Given the description of an element on the screen output the (x, y) to click on. 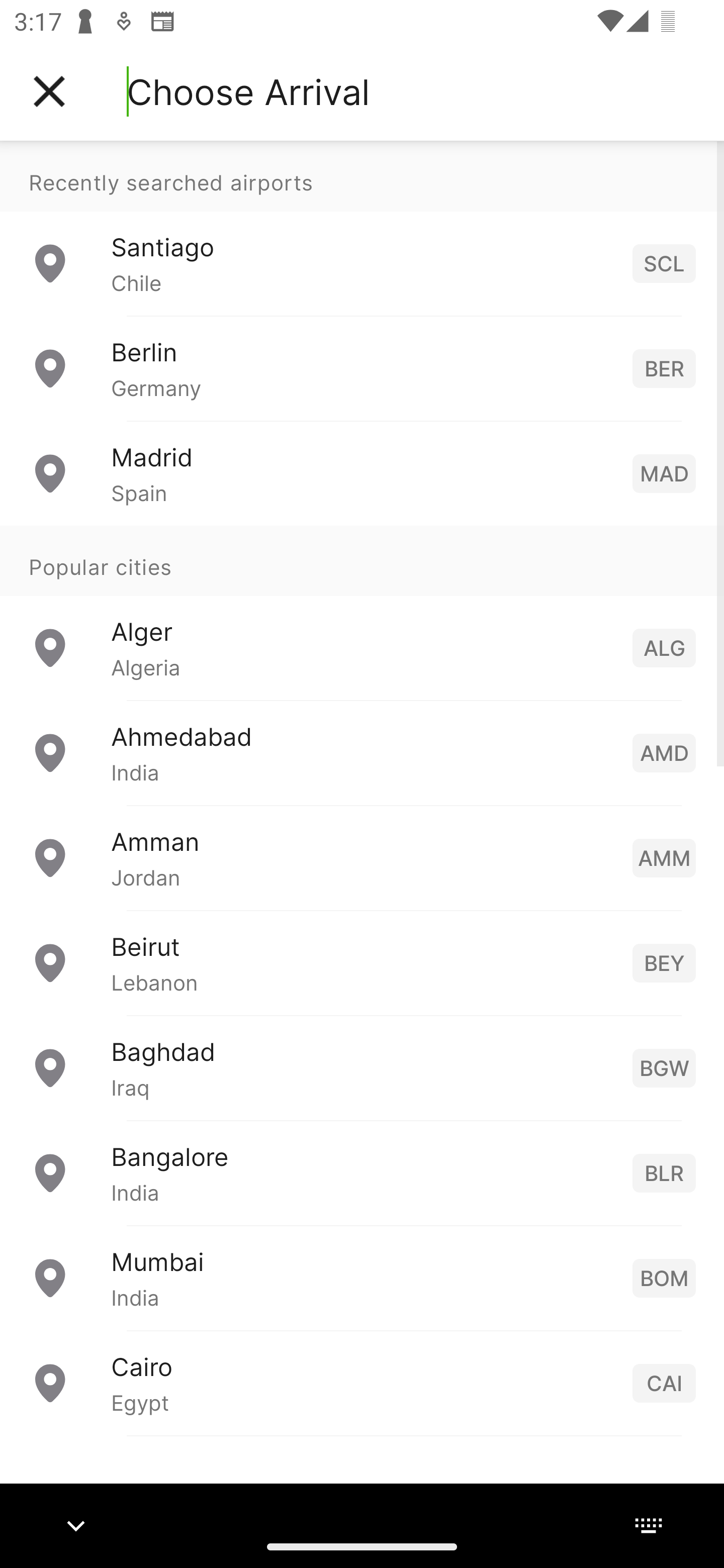
Choose Arrival (247, 91)
Recently searched airports Santiago Chile SCL (362, 228)
Recently searched airports (362, 176)
Berlin Germany BER (362, 367)
Madrid Spain MAD (362, 472)
Popular cities Alger Algeria ALG (362, 612)
Popular cities (362, 560)
Ahmedabad India AMD (362, 751)
Amman Jordan AMM (362, 856)
Beirut Lebanon BEY (362, 961)
Baghdad Iraq BGW (362, 1066)
Bangalore India BLR (362, 1171)
Mumbai India BOM (362, 1276)
Cairo Egypt CAI (362, 1381)
